Given the description of an element on the screen output the (x, y) to click on. 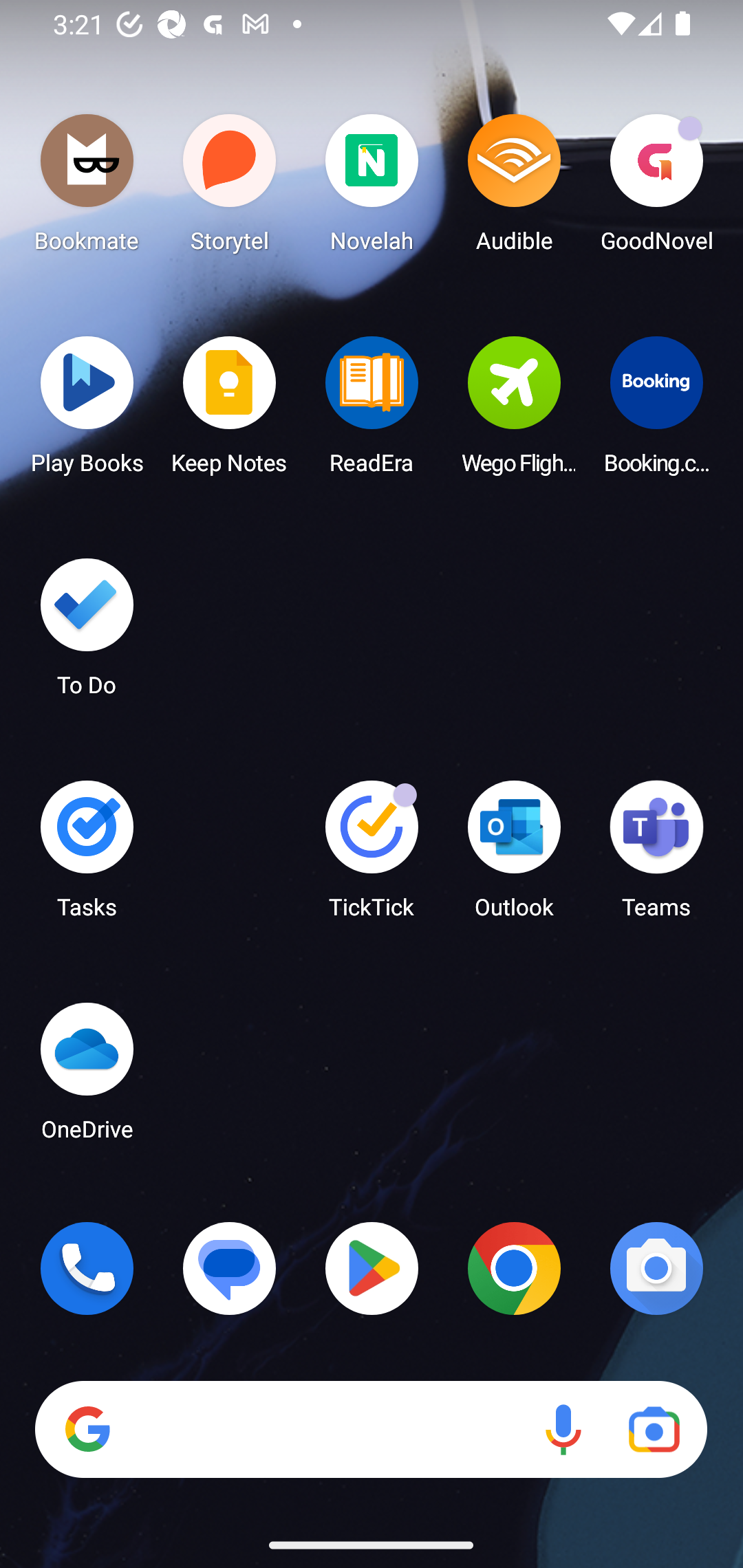
Bookmate (86, 188)
Storytel (229, 188)
Novelah (371, 188)
Audible (513, 188)
GoodNovel GoodNovel has 1 notification (656, 188)
Play Books (86, 410)
Keep Notes (229, 410)
ReadEra (371, 410)
Wego Flights & Hotels (513, 410)
Booking.com (656, 410)
To Do (86, 633)
Tasks (86, 854)
TickTick TickTick has 3 notifications (371, 854)
Outlook (513, 854)
Teams (656, 854)
OneDrive (86, 1076)
Phone (86, 1268)
Messages (229, 1268)
Play Store (371, 1268)
Chrome (513, 1268)
Camera (656, 1268)
Search Voice search Google Lens (370, 1429)
Voice search (562, 1429)
Google Lens (653, 1429)
